Given the description of an element on the screen output the (x, y) to click on. 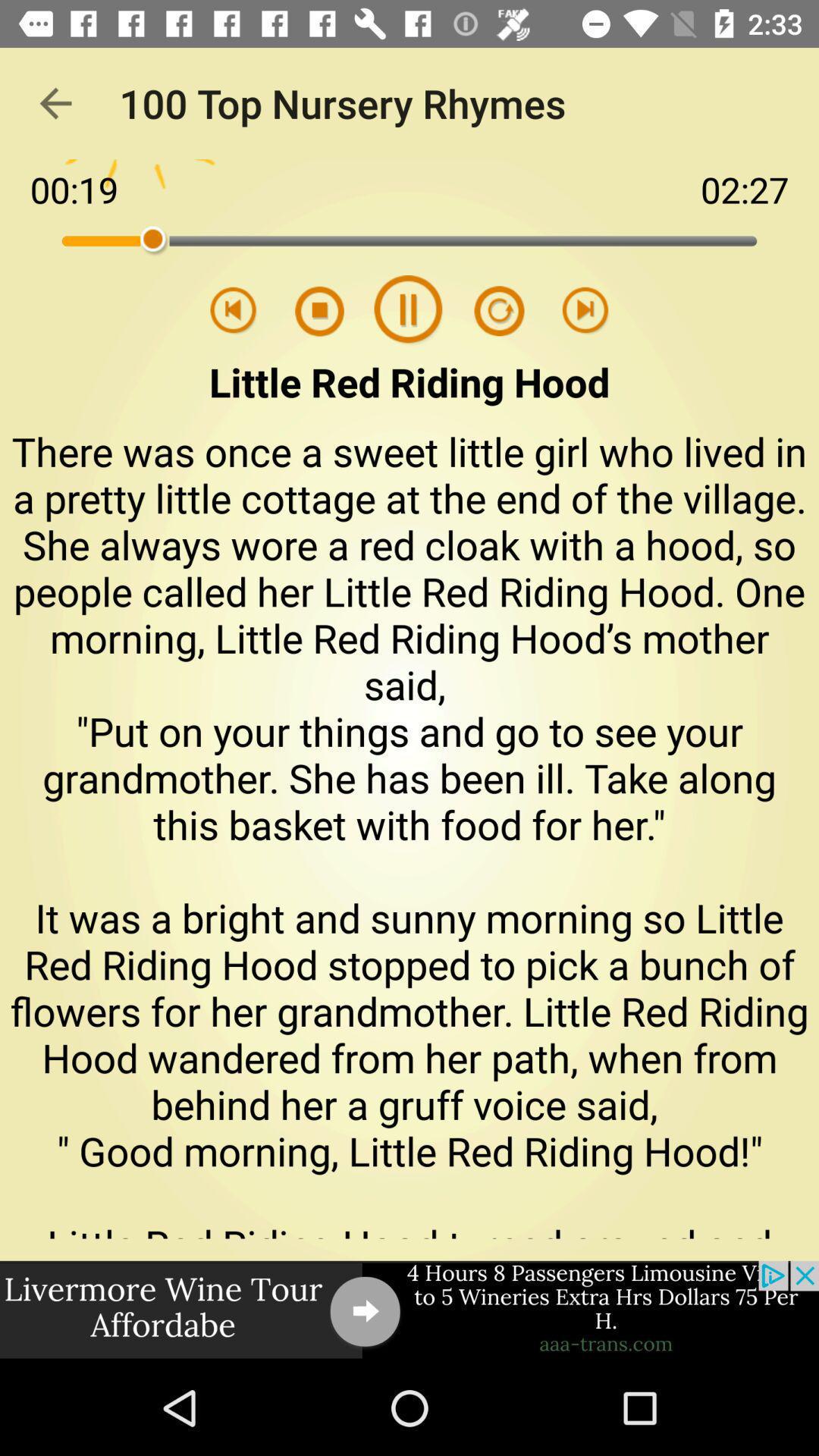
advertisement at bottom (409, 1310)
